Given the description of an element on the screen output the (x, y) to click on. 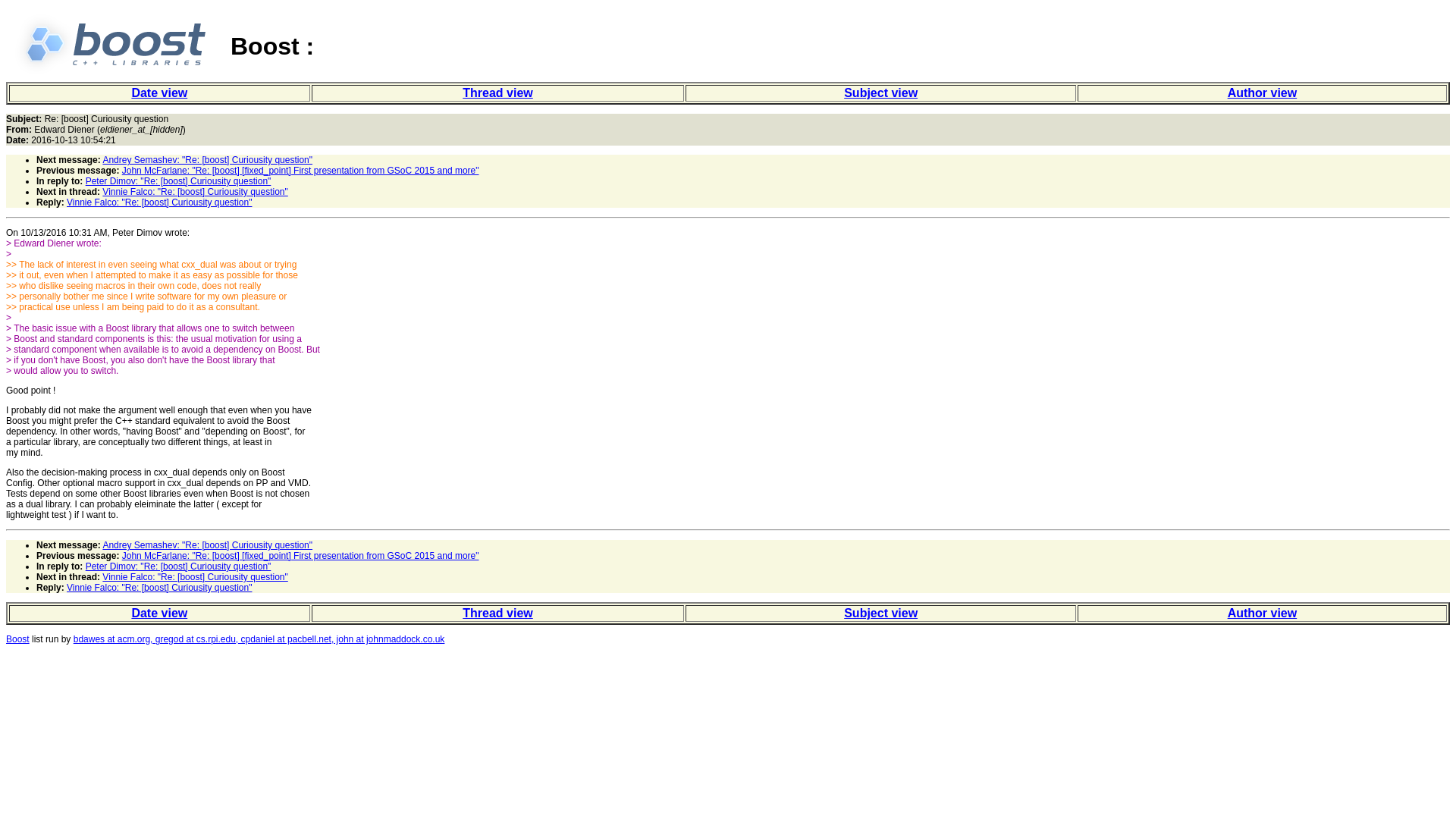
Thread view (497, 612)
Boost (17, 638)
Date view (159, 92)
Subject view (880, 612)
Subject view (880, 92)
Date view (159, 612)
Author view (1262, 612)
Author view (1262, 92)
Thread view (497, 92)
